Given the description of an element on the screen output the (x, y) to click on. 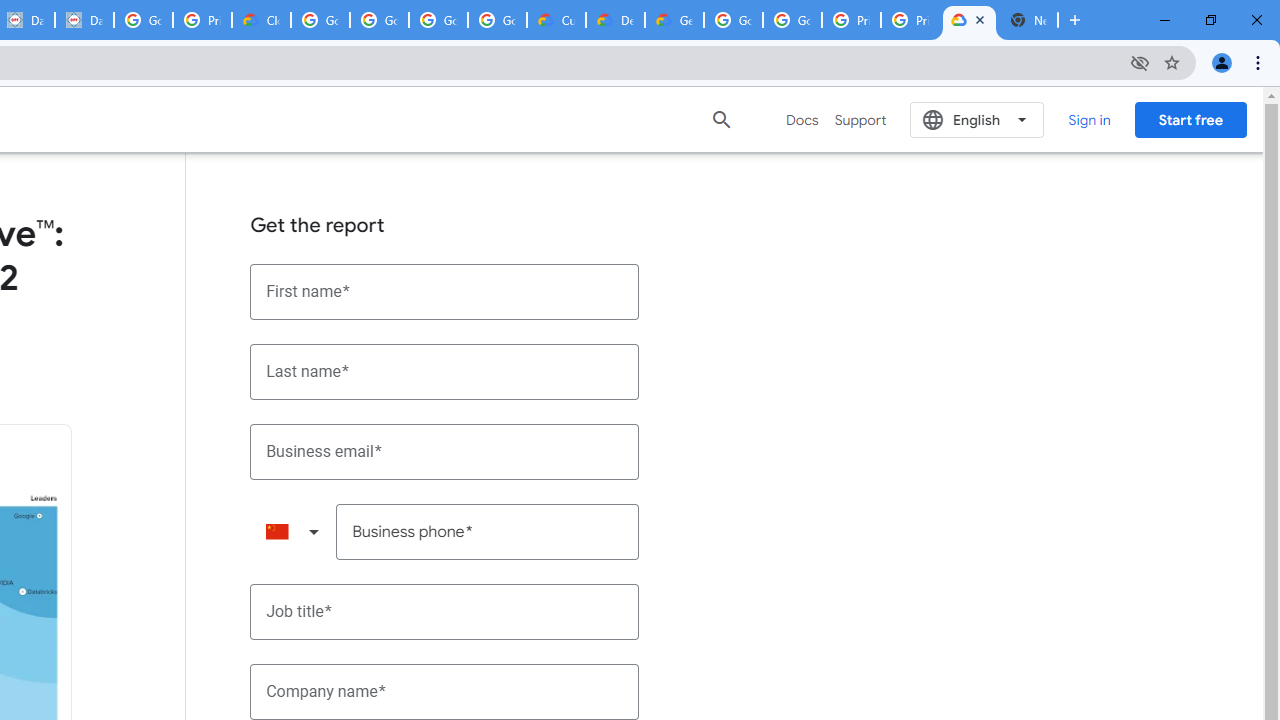
Google Workspace - Specific Terms (438, 20)
Google Workspace - Specific Terms (497, 20)
New Tab (1028, 20)
Job title* (445, 611)
Start free (1190, 119)
Data Privacy Framework (84, 20)
Google Cloud Platform (733, 20)
Last name* (445, 371)
